Given the description of an element on the screen output the (x, y) to click on. 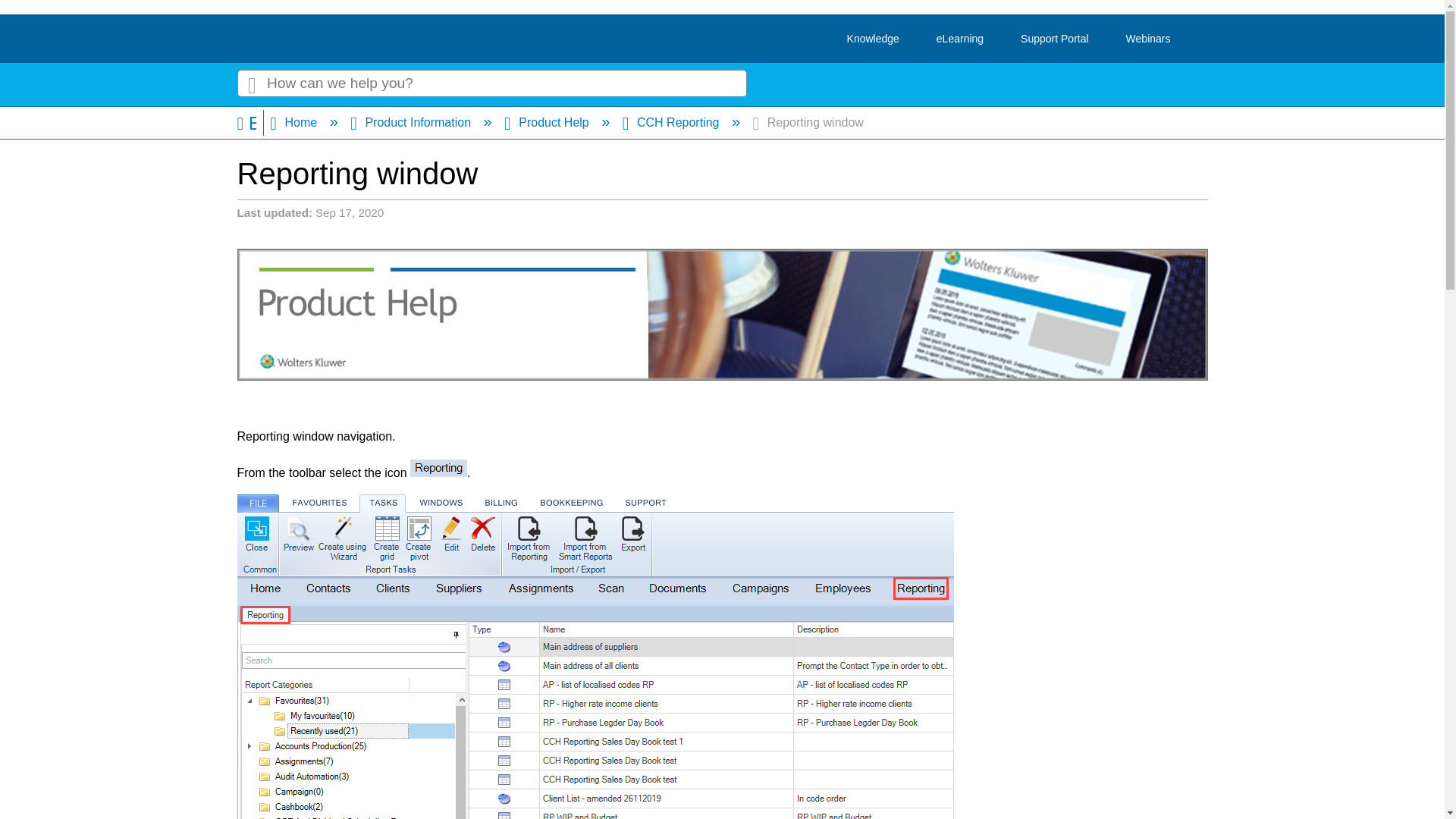
Knowledge (873, 38)
Product Help (547, 122)
Product Information (412, 122)
Search (250, 84)
CCH Reporting (672, 122)
Support Portal (1054, 38)
Home (294, 122)
Webinars (1147, 38)
eLearning (960, 38)
